Given the description of an element on the screen output the (x, y) to click on. 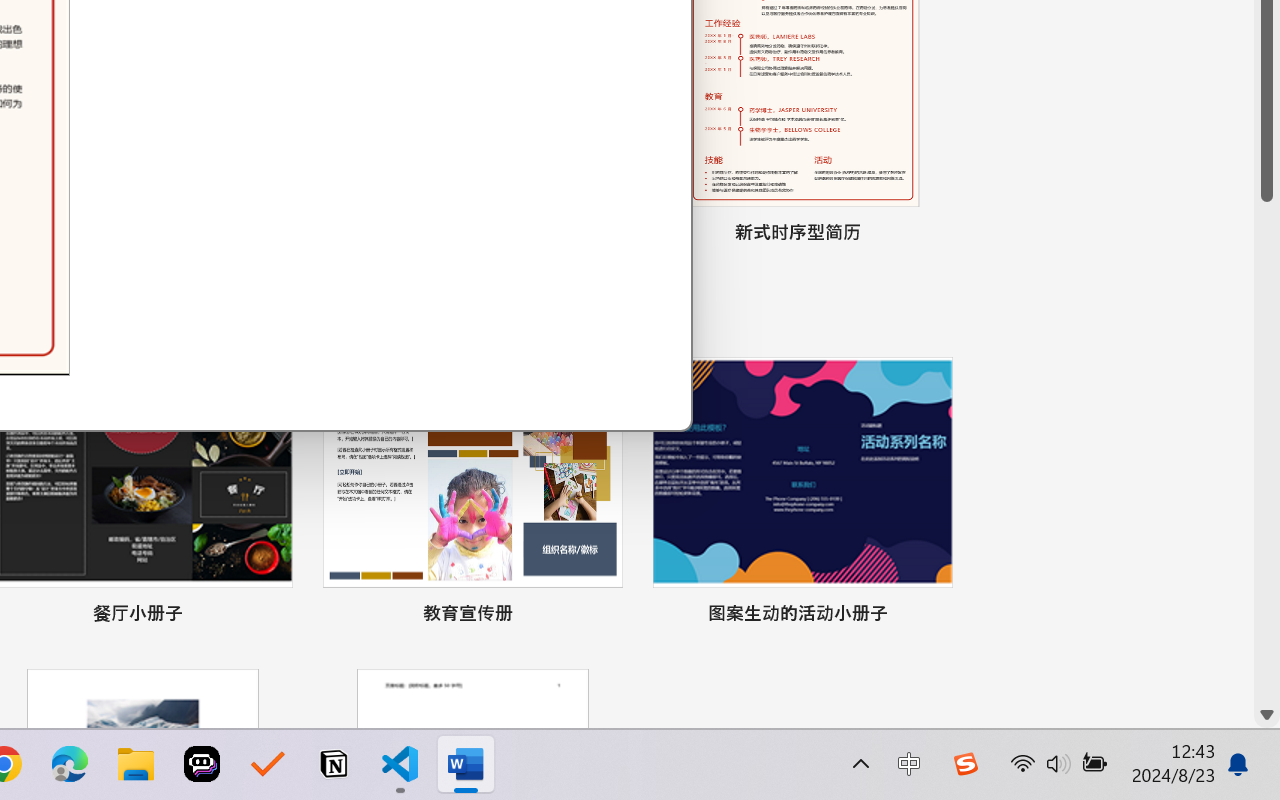
Line down (1267, 715)
Pin to list (934, 616)
Page down (1267, 451)
